Given the description of an element on the screen output the (x, y) to click on. 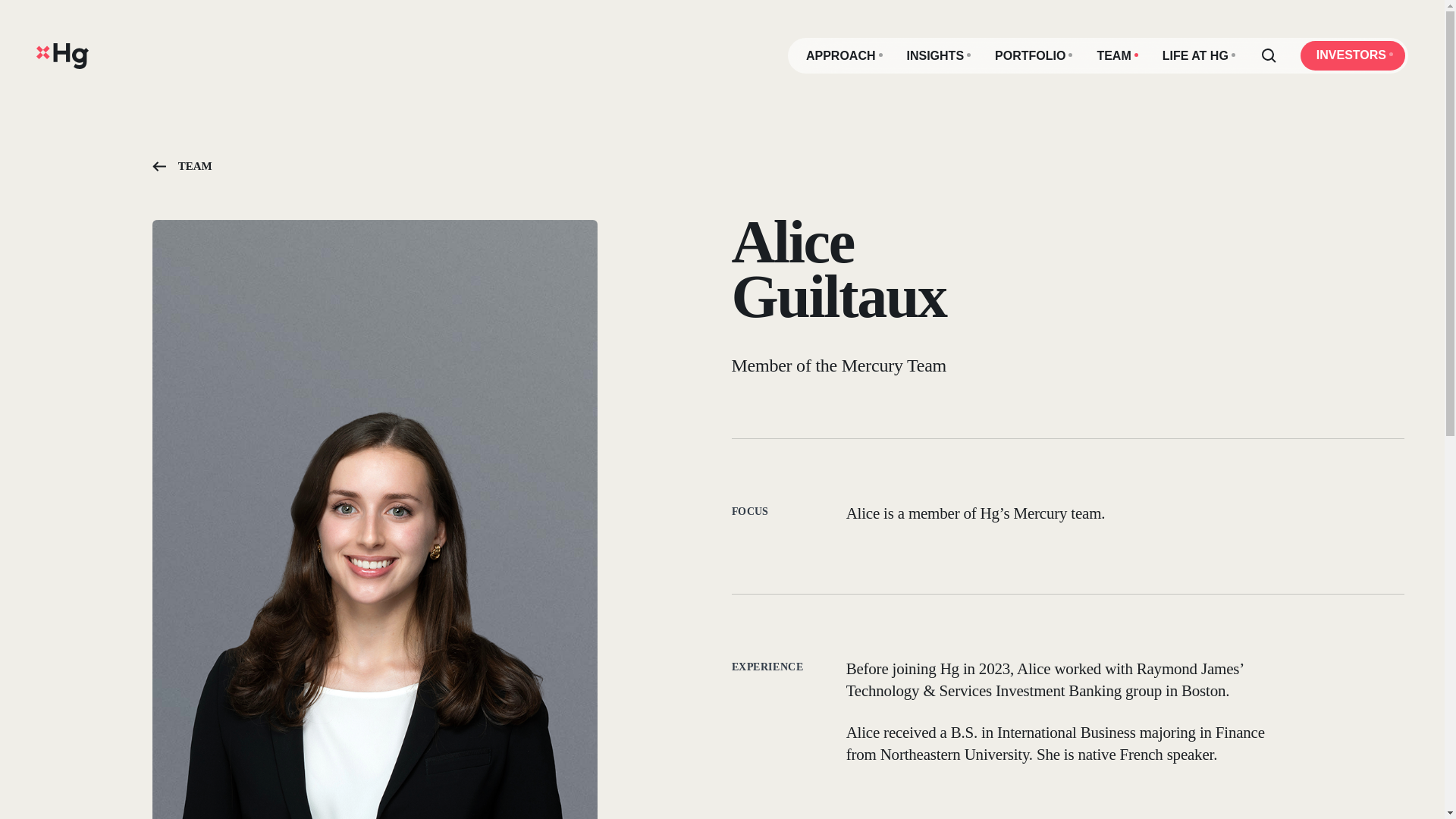
PORTFOLIO (1033, 55)
INSIGHTS (939, 55)
APPROACH (844, 55)
LIFE AT HG (1198, 55)
INVESTORS (1352, 55)
TEAM (182, 167)
TEAM (1117, 55)
